Given the description of an element on the screen output the (x, y) to click on. 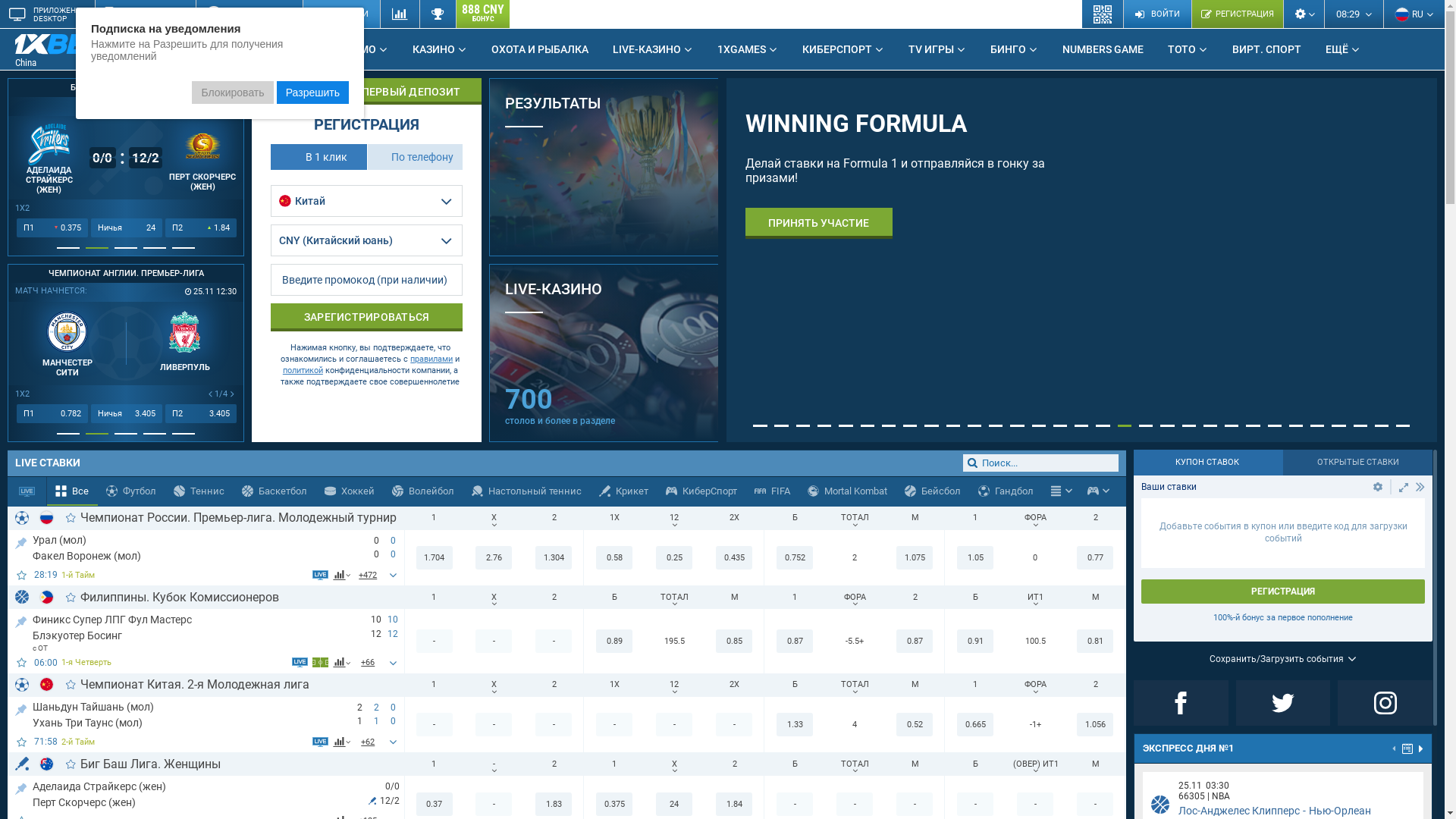
1XGAMES Element type: text (747, 48)
TOP Element type: hover (20, 785)
+66 Element type: text (367, 662)
TOP Element type: hover (20, 706)
TOP Element type: hover (20, 540)
PROMO Element type: text (363, 48)
China Element type: text (71, 49)
LIVE Element type: text (296, 48)
+485 Element type: text (367, 574)
TOP Element type: hover (20, 618)
Mortal Kombat Element type: text (847, 490)
1xBet Betting Company Element type: hover (60, 43)
NEW Element type: text (124, 42)
FIFA Element type: text (772, 490)
NUMBERS GAME Element type: text (1102, 48)
+75 Element type: text (367, 741)
